Given the description of an element on the screen output the (x, y) to click on. 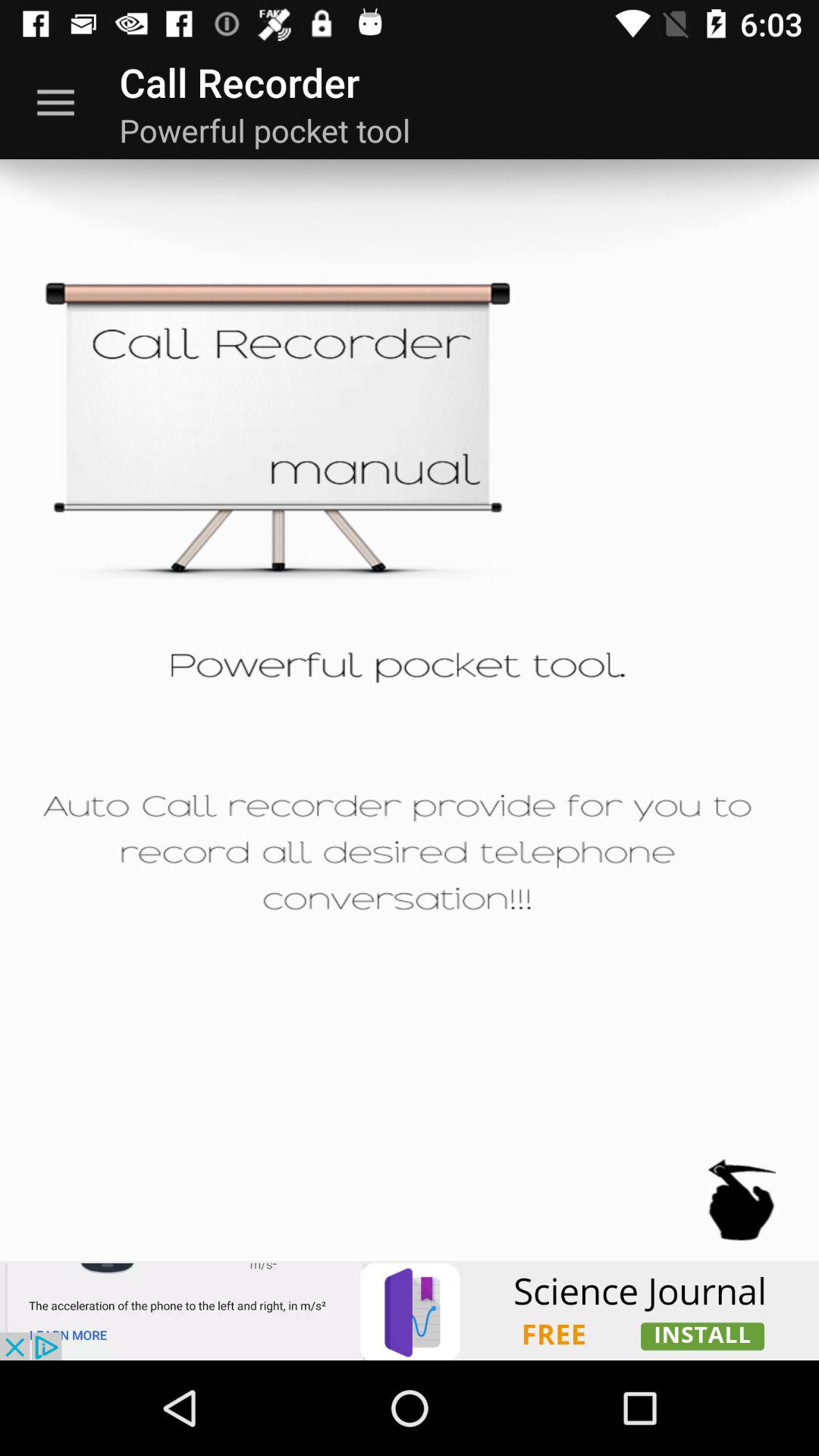
advertisement in the bottom (409, 1310)
